Given the description of an element on the screen output the (x, y) to click on. 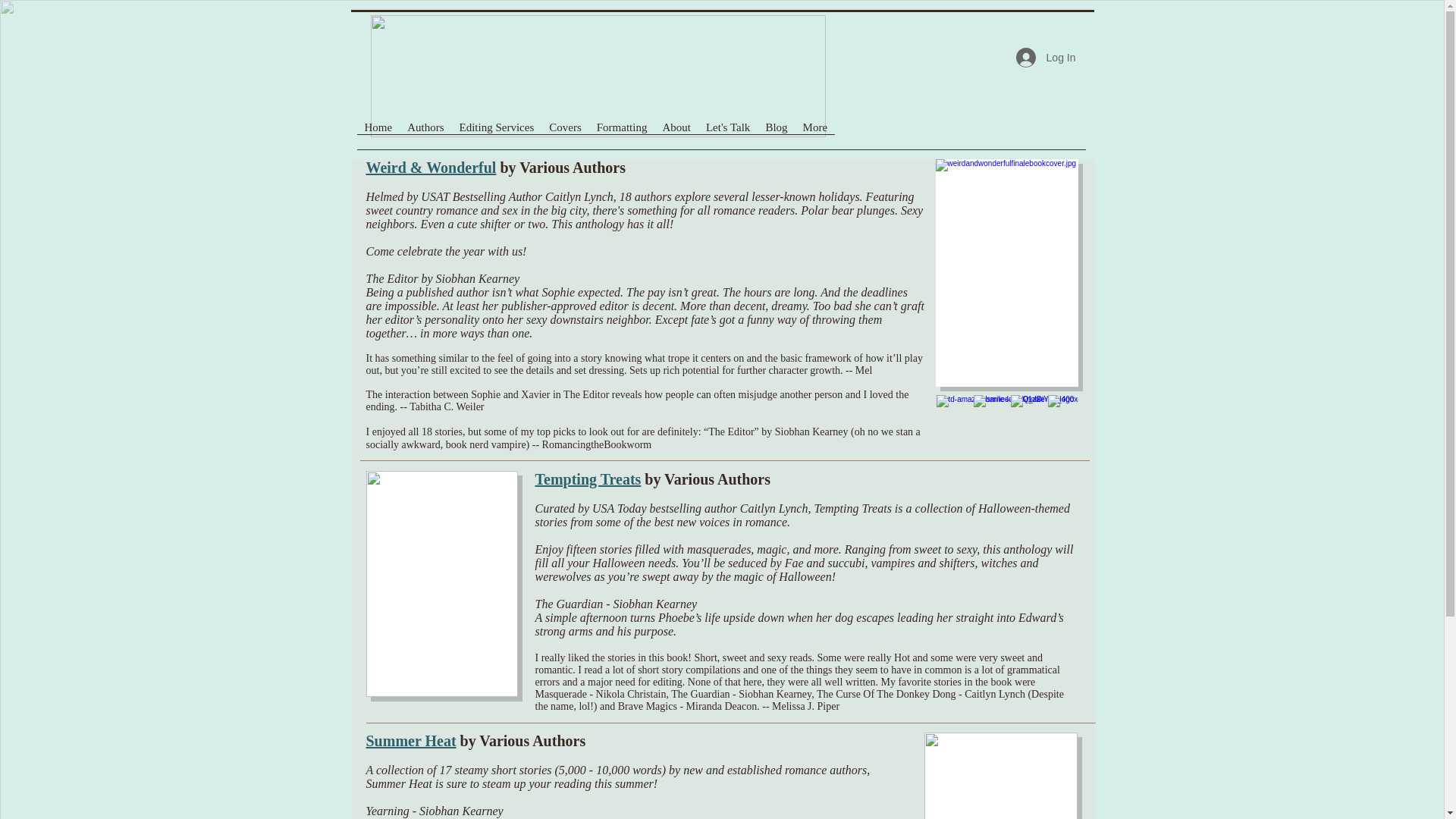
Blog (775, 139)
Tempting Treats (588, 478)
Formatting (622, 139)
Covers (565, 139)
Home (377, 139)
Authors (424, 139)
Let's Talk (727, 139)
Log In (1046, 57)
Editing Services (496, 139)
Summer Heat (410, 740)
About (675, 139)
